Given the description of an element on the screen output the (x, y) to click on. 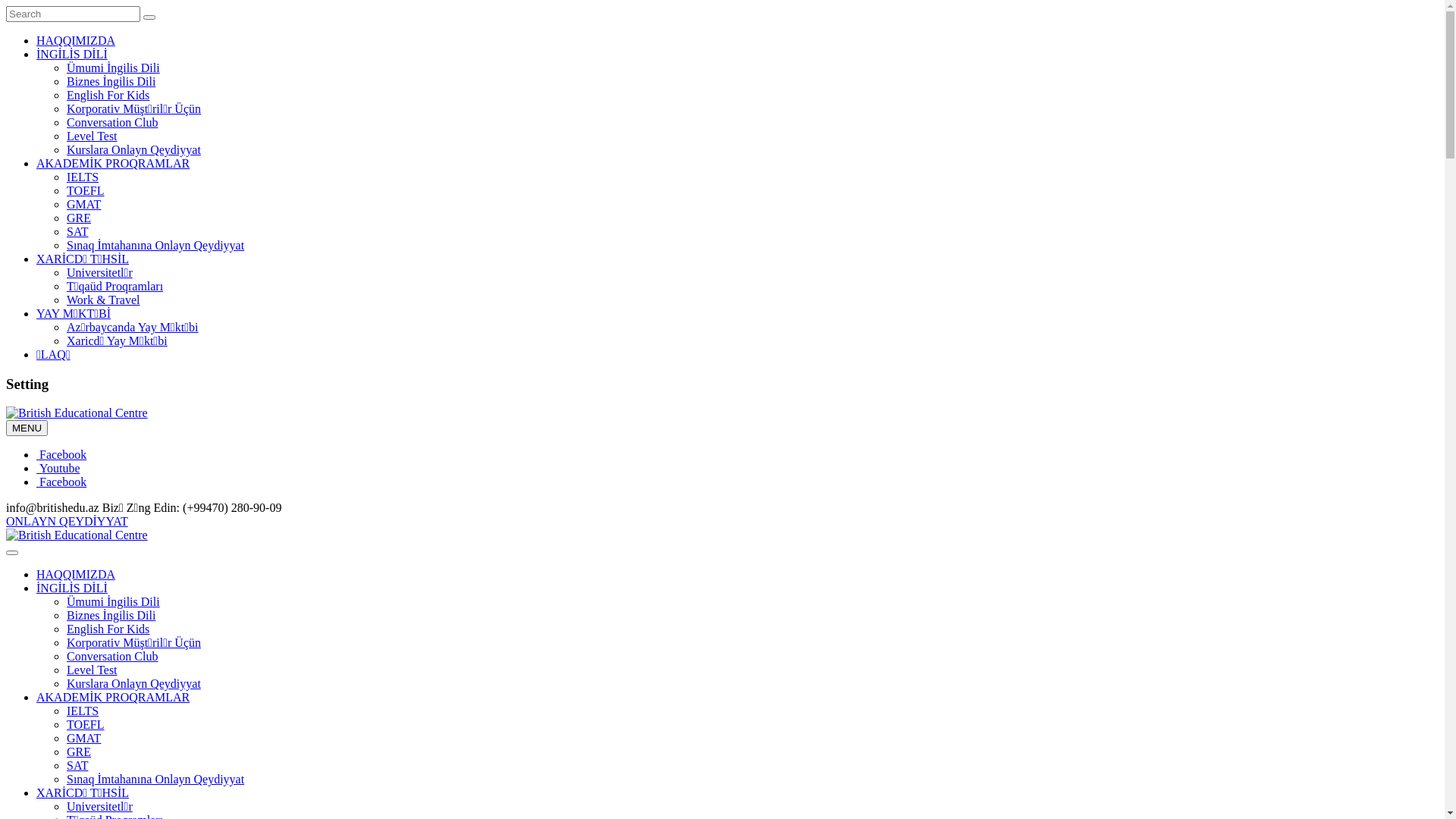
HAQQIMIZDA Element type: text (75, 573)
SAT Element type: text (76, 765)
Level Test Element type: text (91, 669)
Conversation Club Element type: text (111, 122)
HAQQIMIZDA Element type: text (75, 40)
 Facebook Element type: text (61, 481)
English For Kids Element type: text (107, 628)
Level Test Element type: text (91, 135)
GRE Element type: text (78, 217)
SAT Element type: text (76, 231)
IELTS Element type: text (82, 710)
MENU Element type: text (26, 428)
Kurslara Onlayn Qeydiyyat Element type: text (133, 149)
 Facebook Element type: text (61, 454)
 Youtube Element type: text (58, 467)
TOEFL Element type: text (84, 724)
TOEFL Element type: text (84, 190)
English For Kids Element type: text (107, 94)
Kurslara Onlayn Qeydiyyat Element type: text (133, 683)
GMAT Element type: text (83, 737)
Work & Travel Element type: text (103, 299)
Conversation Club Element type: text (111, 655)
GRE Element type: text (78, 751)
GMAT Element type: text (83, 203)
IELTS Element type: text (82, 176)
